Given the description of an element on the screen output the (x, y) to click on. 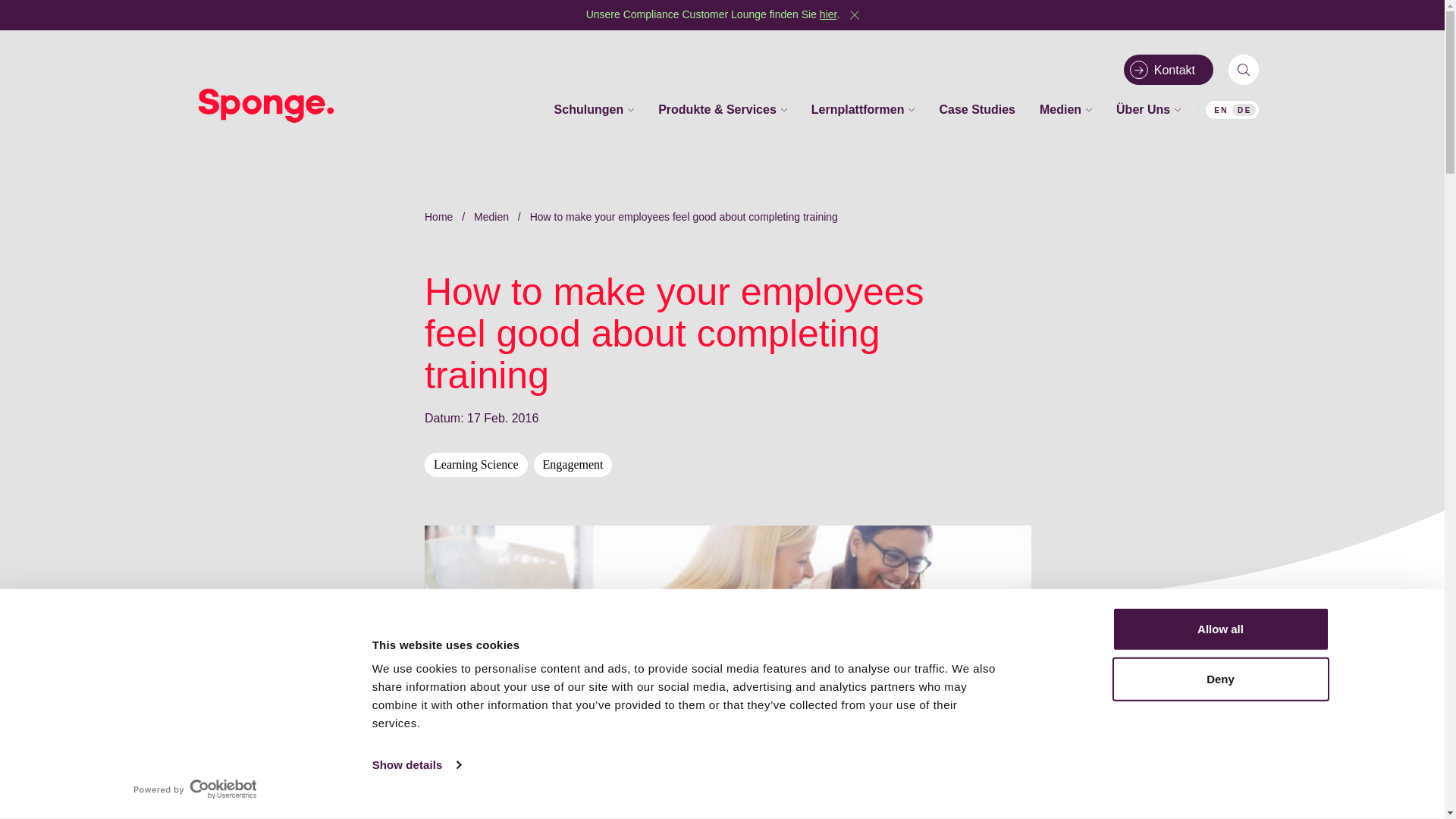
cookies (461, 688)
Show details (416, 764)
preferences (682, 711)
Decline (998, 784)
Accept (935, 784)
